Given the description of an element on the screen output the (x, y) to click on. 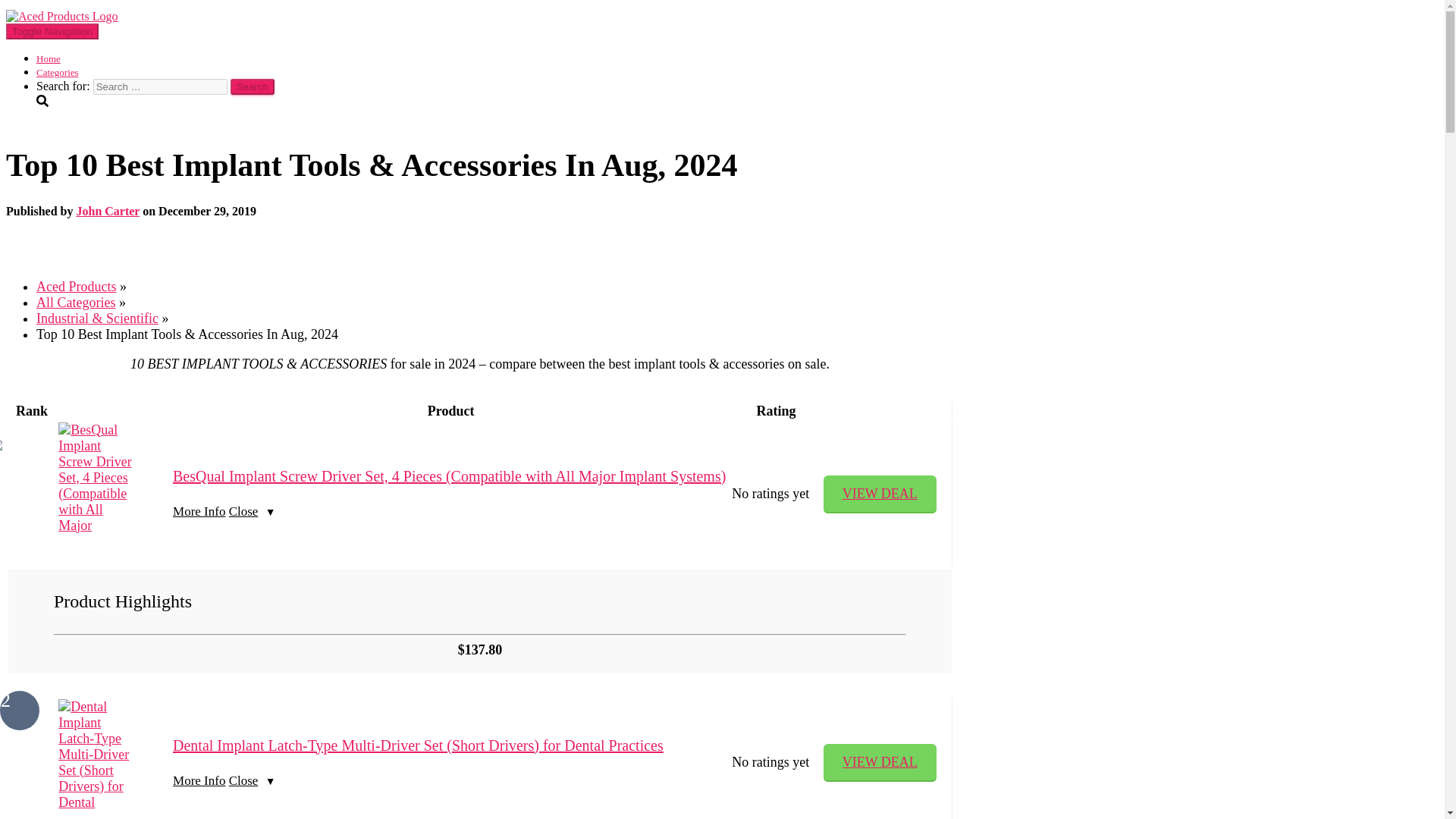
All Categories (75, 302)
Toggle Navigation (52, 31)
Aced Products (76, 286)
Home (48, 58)
Categories (57, 71)
VIEW DEAL (880, 762)
Aced Products (61, 15)
John Carter (107, 210)
VIEW DEAL (880, 762)
Categories (57, 71)
